Given the description of an element on the screen output the (x, y) to click on. 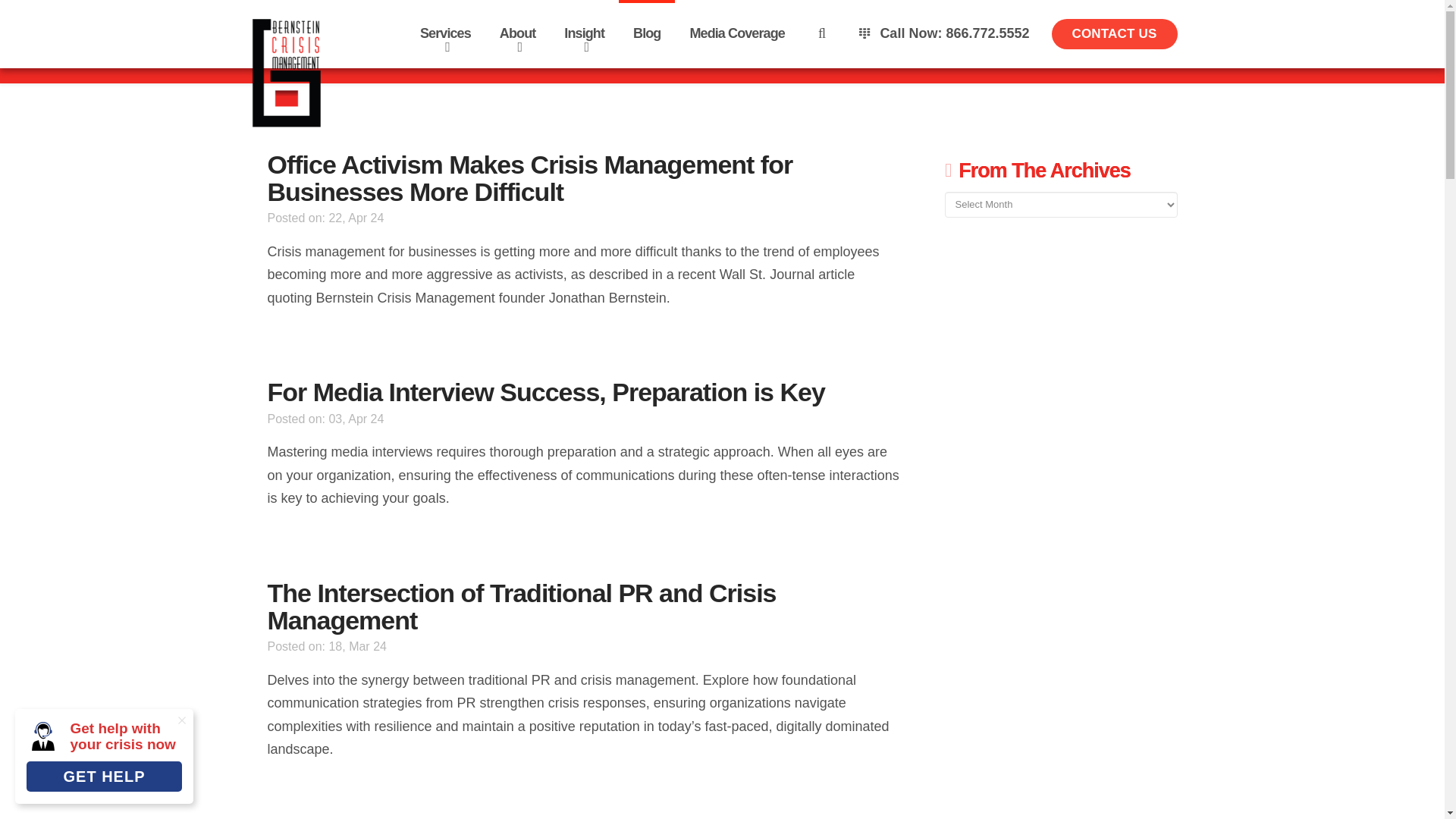
Media Coverage (736, 33)
Insight (584, 33)
About (517, 33)
Services (445, 33)
CONTACT US (1113, 33)
Call Now: 866.772.5552 (943, 33)
